Given the description of an element on the screen output the (x, y) to click on. 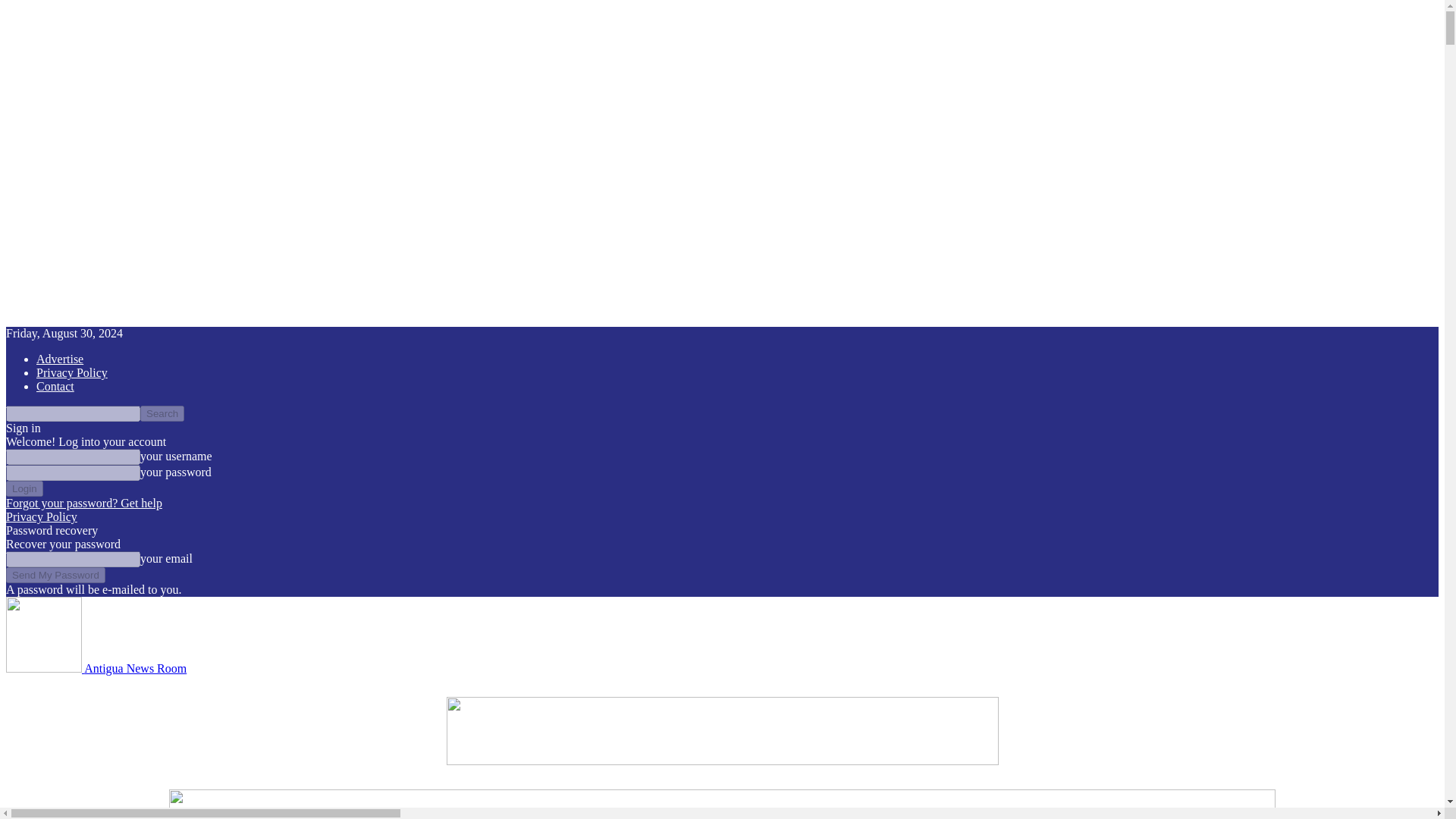
Search (161, 413)
Privacy Policy (41, 516)
Login (24, 488)
Contact (55, 386)
Forgot your password? Get help (83, 502)
Privacy Policy (71, 372)
Send My Password (54, 575)
Search (161, 413)
Advertise (59, 358)
Antigua News Room (95, 667)
